Given the description of an element on the screen output the (x, y) to click on. 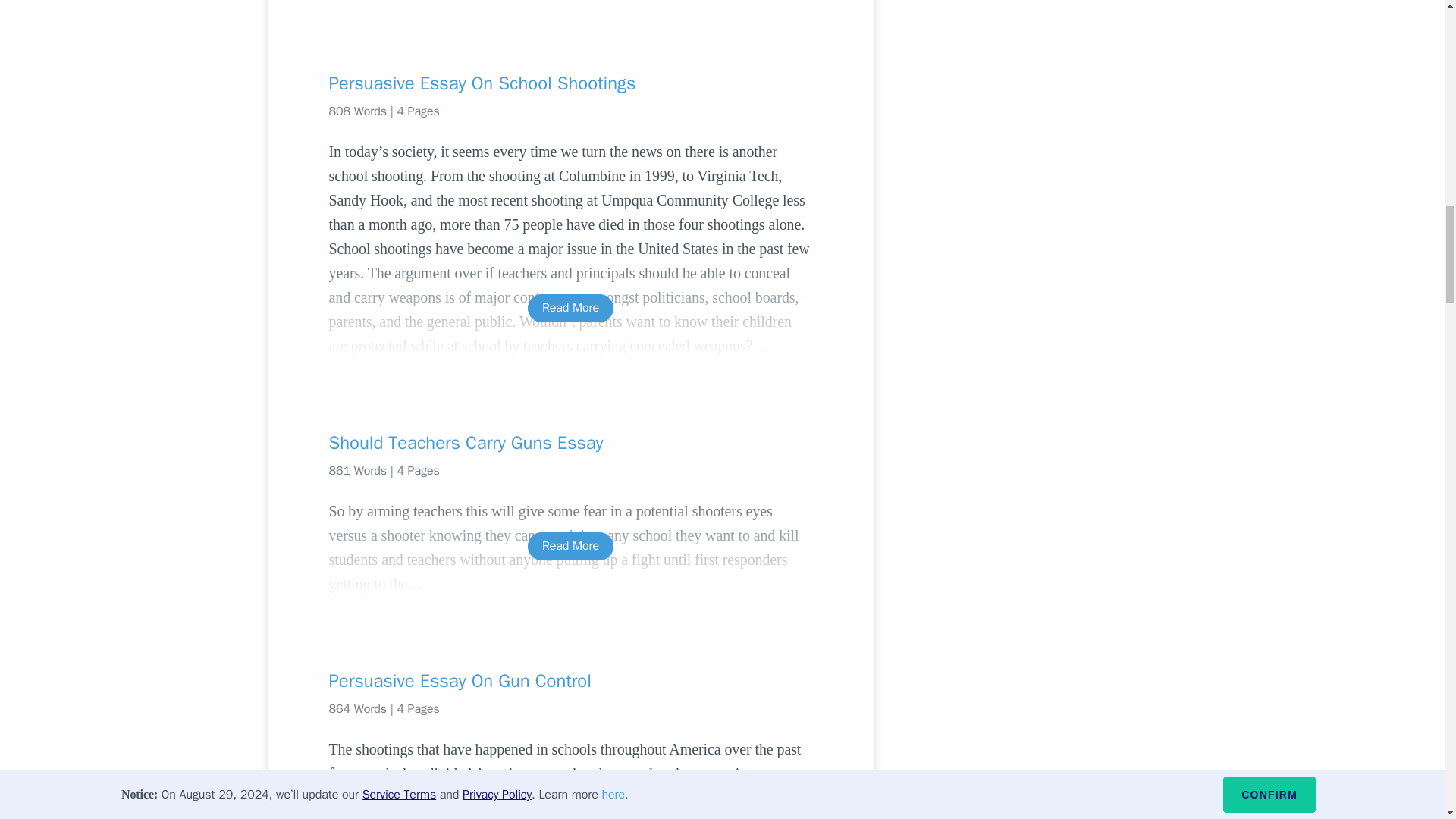
Read More (569, 308)
Read More (569, 546)
Persuasive Essay On School Shootings (570, 83)
Should Teachers Carry Guns Essay (570, 442)
Persuasive Essay On Gun Control (570, 680)
